Given the description of an element on the screen output the (x, y) to click on. 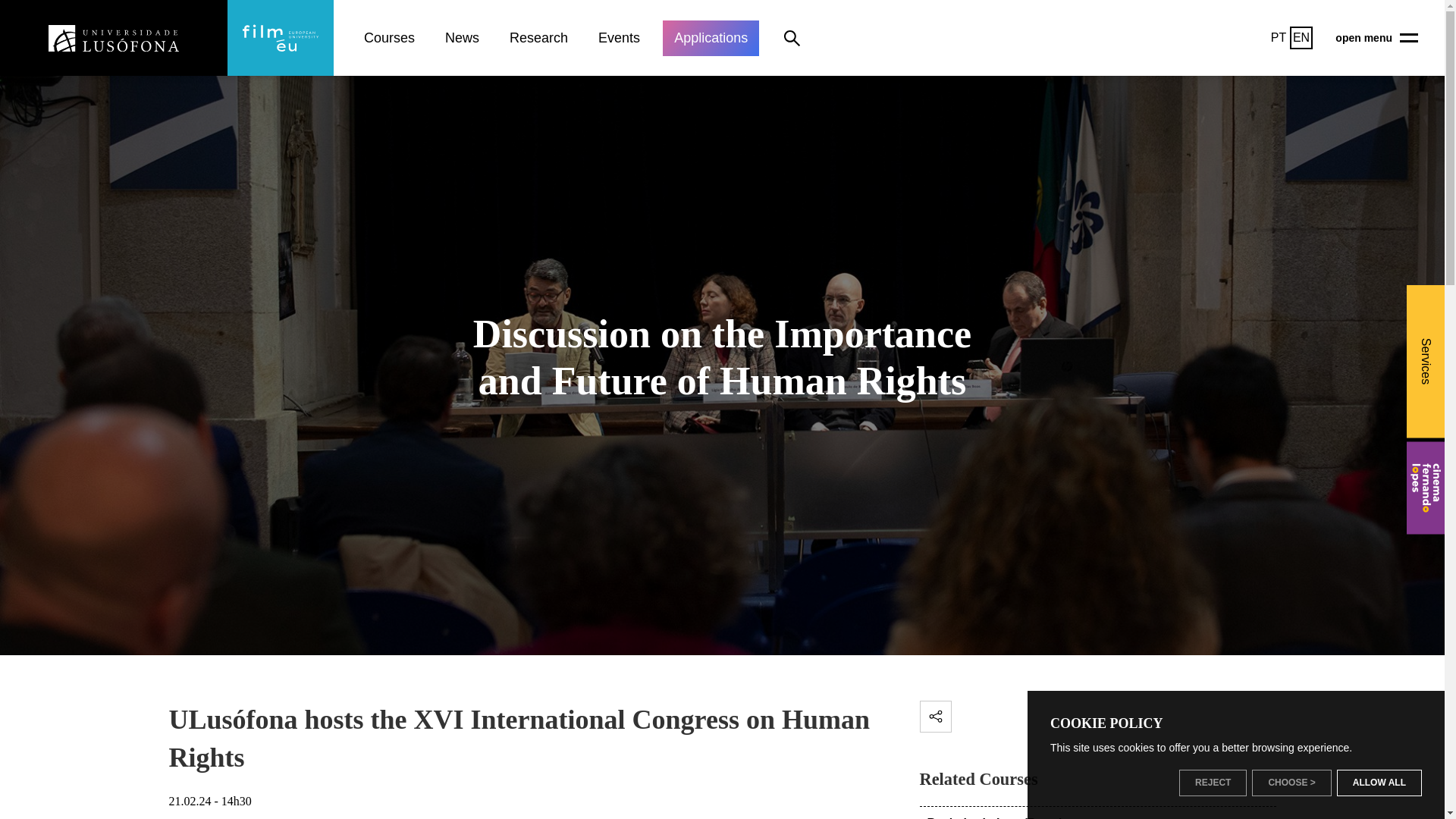
Research (538, 37)
News (462, 37)
Courses (389, 37)
Research (538, 37)
Applications (710, 37)
Applications (710, 37)
search (791, 37)
Courses (389, 37)
PT (1278, 37)
EN (1301, 37)
filmeu (280, 38)
News (462, 37)
Events (619, 37)
Events (619, 37)
